Given the description of an element on the screen output the (x, y) to click on. 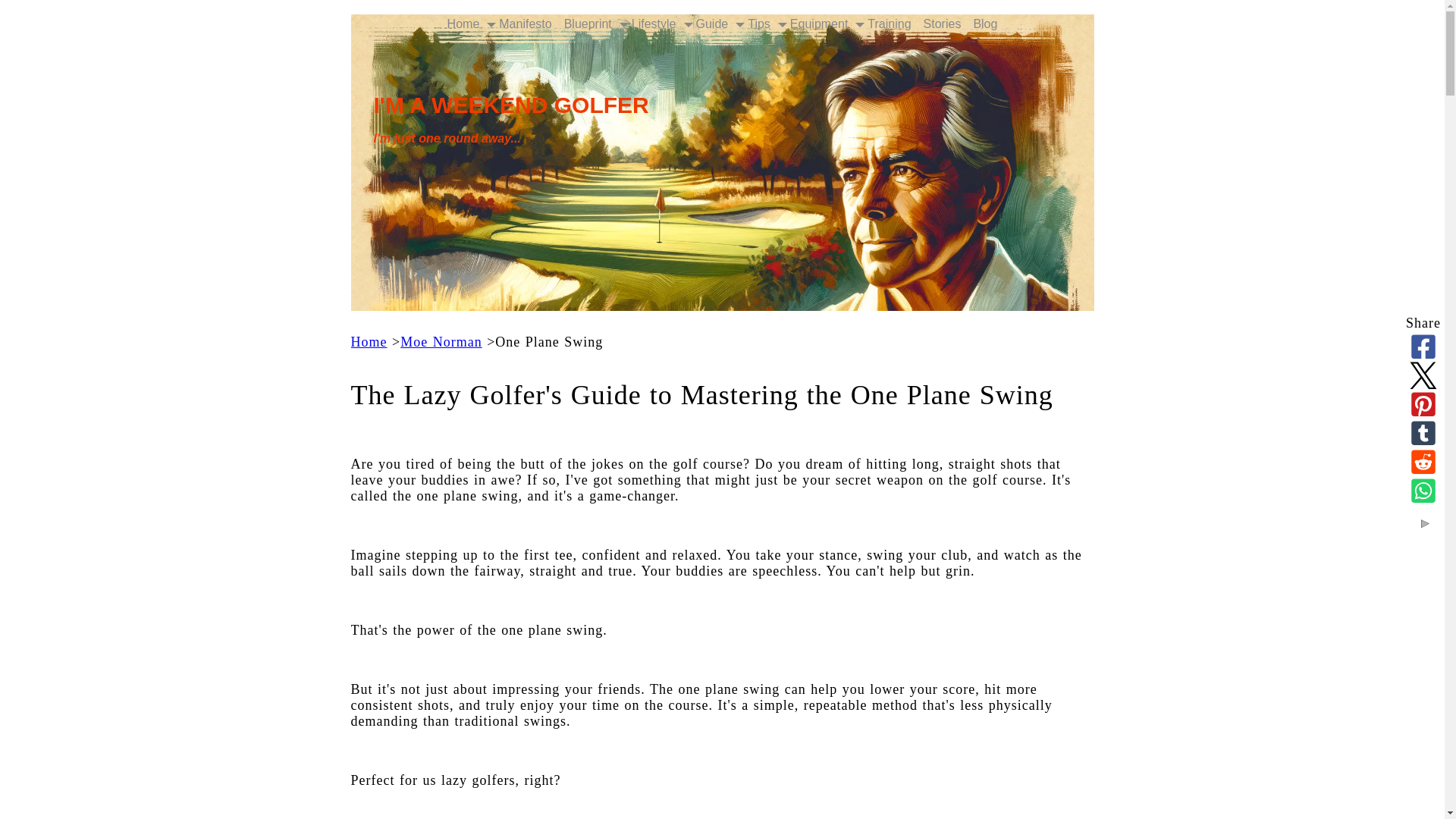
I'M A WEEKEND GOLFER (509, 104)
Home (463, 24)
Blueprint (587, 24)
Stories (942, 24)
